Given the description of an element on the screen output the (x, y) to click on. 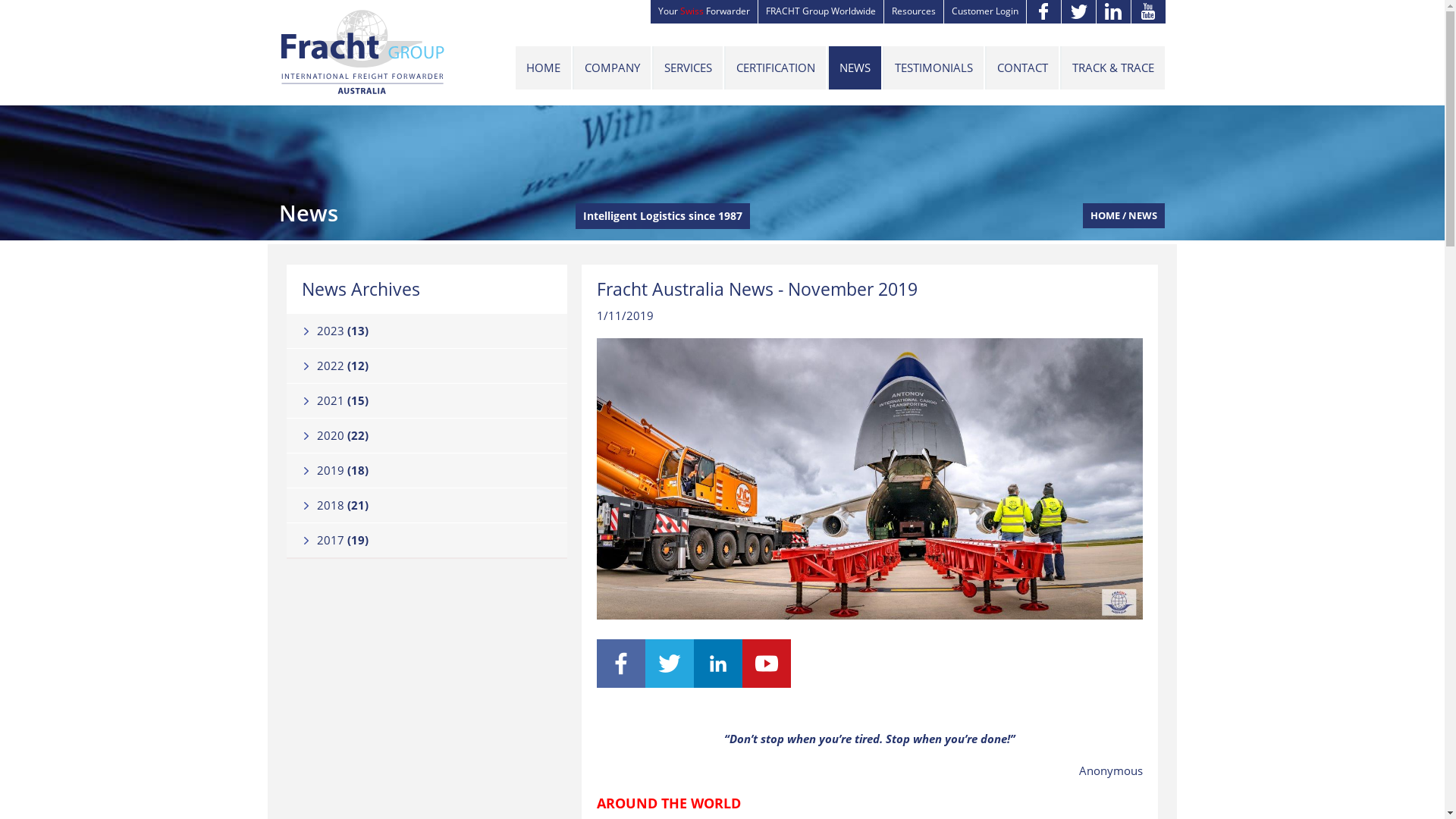
Fracht YouTube Element type: hover (766, 682)
Image title here... Element type: hover (869, 478)
CONTACT Element type: text (1021, 67)
COMPANY Element type: text (611, 67)
CERTIFICATION Element type: text (774, 67)
2022 (12) Element type: text (426, 365)
Fracht LinkedIn Element type: hover (717, 682)
Your Swiss Forwarder Element type: text (703, 11)
HOME Element type: text (543, 67)
2020 (22) Element type: text (426, 435)
2023 (13) Element type: text (426, 330)
HOME Element type: text (1105, 215)
TESTIMONIALS Element type: text (932, 67)
FRACHT Group Worldwide Element type: text (820, 11)
Fracht Facebook Element type: hover (620, 682)
Fracht Twitter Element type: hover (669, 682)
Resources Element type: text (913, 11)
2017 (19) Element type: text (426, 540)
2021 (15) Element type: text (426, 400)
SERVICES Element type: text (687, 67)
TRACK & TRACE Element type: text (1112, 67)
2019 (18) Element type: text (426, 470)
NEWS Element type: text (854, 67)
2018 (21) Element type: text (426, 505)
Customer Login Element type: text (984, 11)
